Given the description of an element on the screen output the (x, y) to click on. 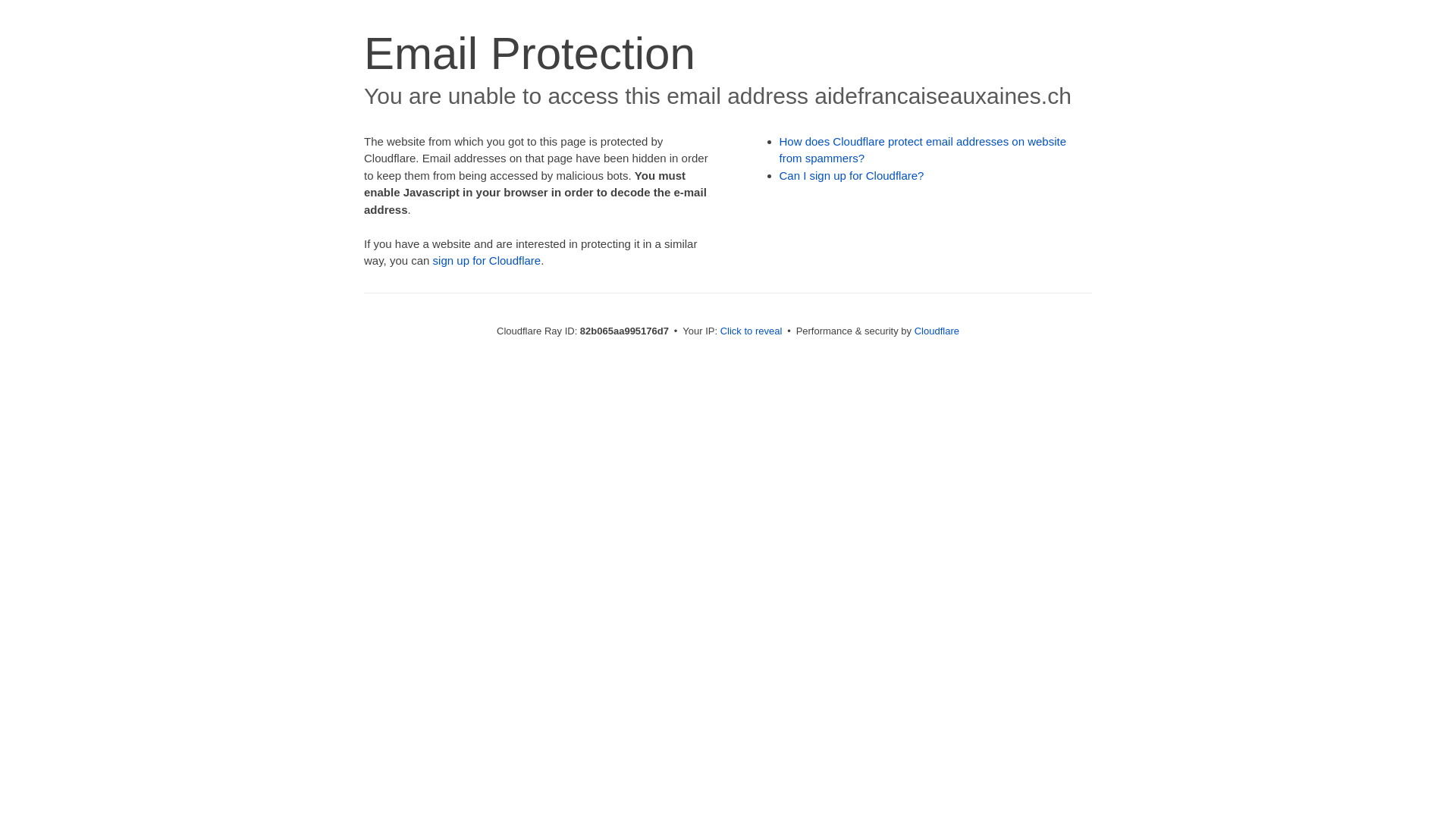
Cloudflare Element type: text (936, 330)
Click to reveal Element type: text (751, 330)
sign up for Cloudflare Element type: text (487, 260)
Can I sign up for Cloudflare? Element type: text (851, 175)
